Given the description of an element on the screen output the (x, y) to click on. 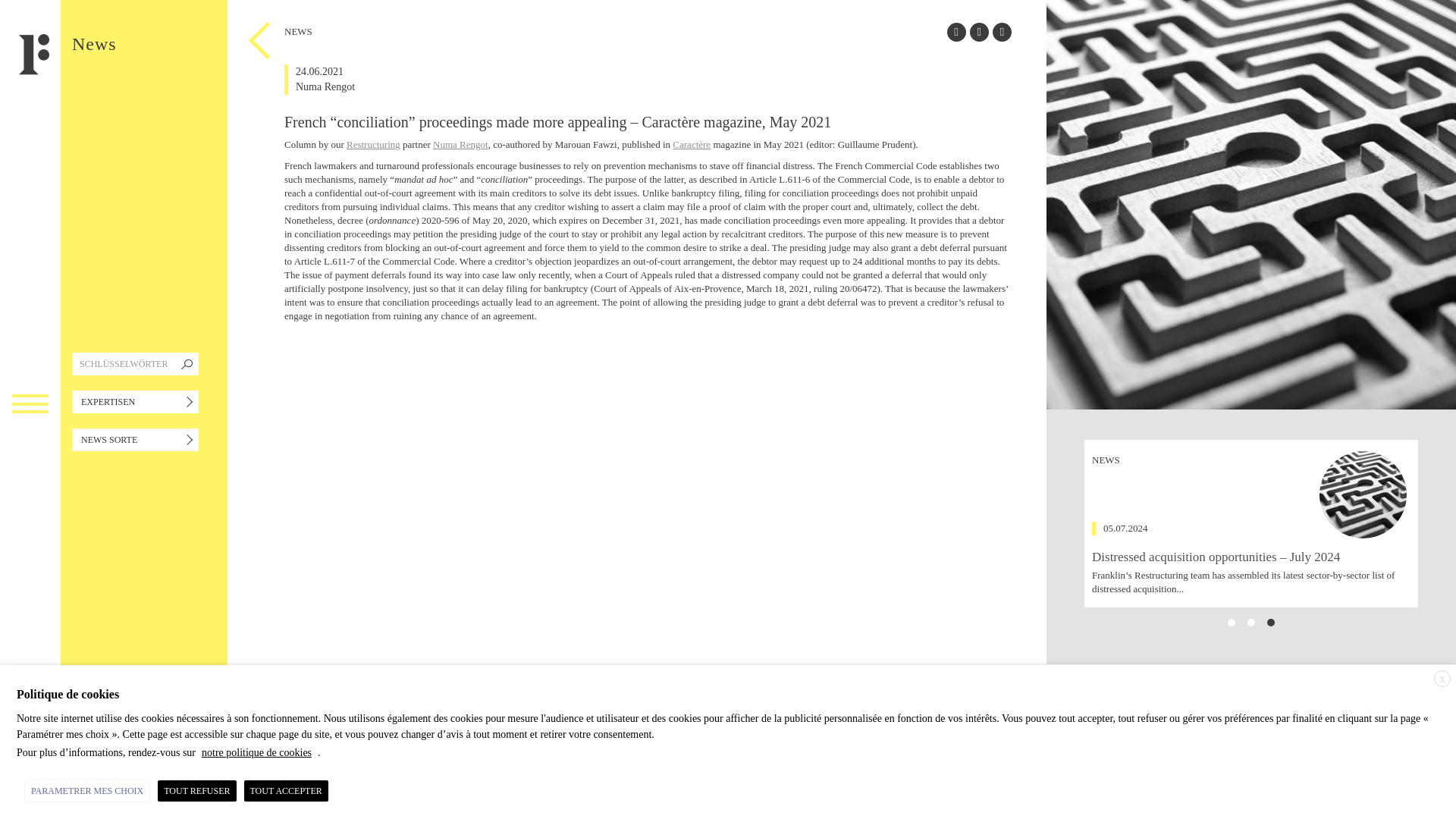
de (29, 755)
AUSZEICHNUNGEN (30, 682)
EXPERTISEN (134, 401)
Auszeichnungen (30, 682)
NEWSLETTERS (30, 711)
NEWS SORTE (29, 755)
Newsletters (134, 401)
